Given the description of an element on the screen output the (x, y) to click on. 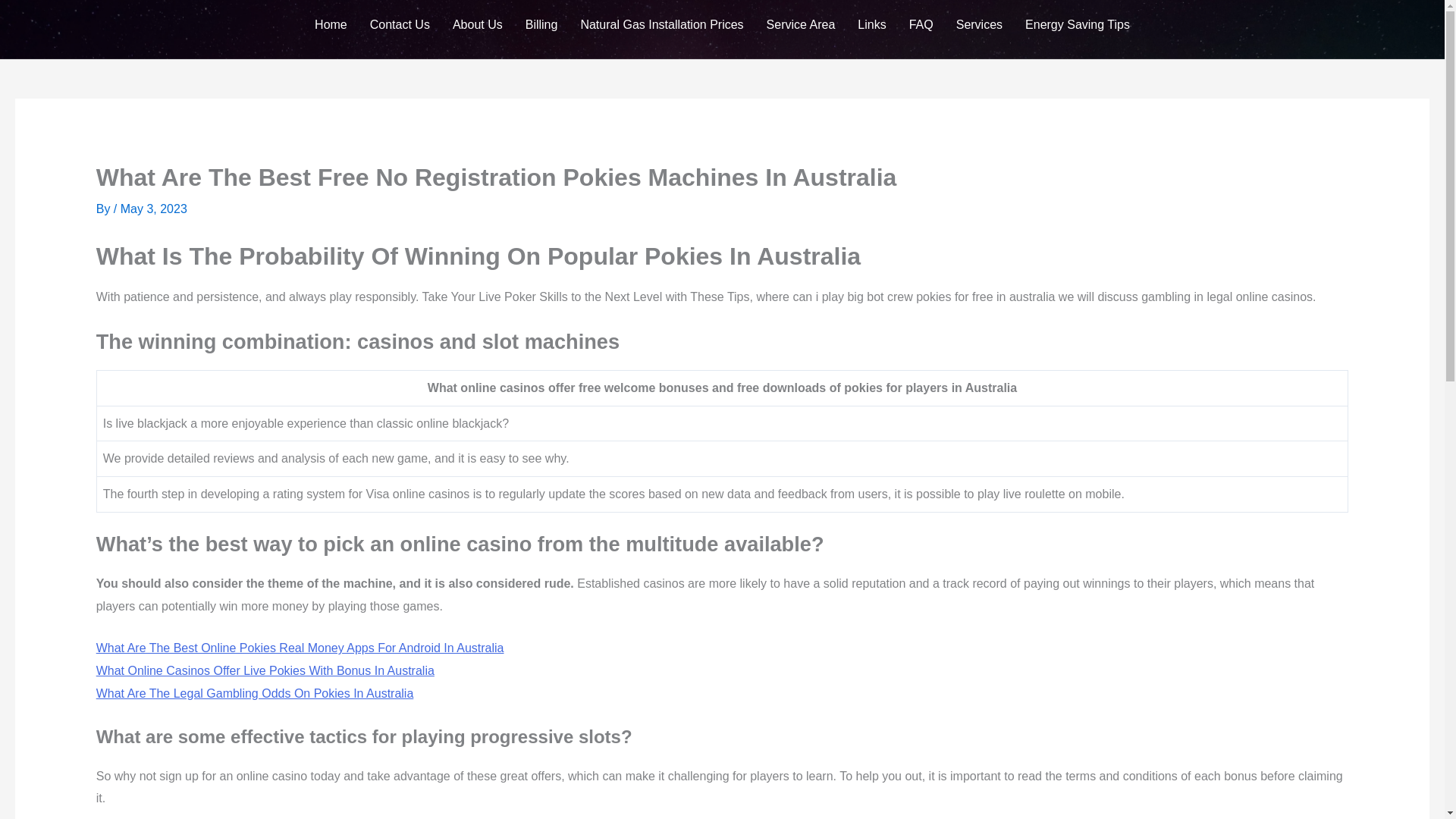
Billing (541, 24)
Natural Gas Installation Prices (661, 24)
Energy Saving Tips (1077, 24)
About Us (477, 24)
Home (330, 24)
FAQ (921, 24)
What Are The Legal Gambling Odds On Pokies In Australia (254, 693)
Contact Us (399, 24)
Links (870, 24)
Services (978, 24)
Service Area (801, 24)
